Given the description of an element on the screen output the (x, y) to click on. 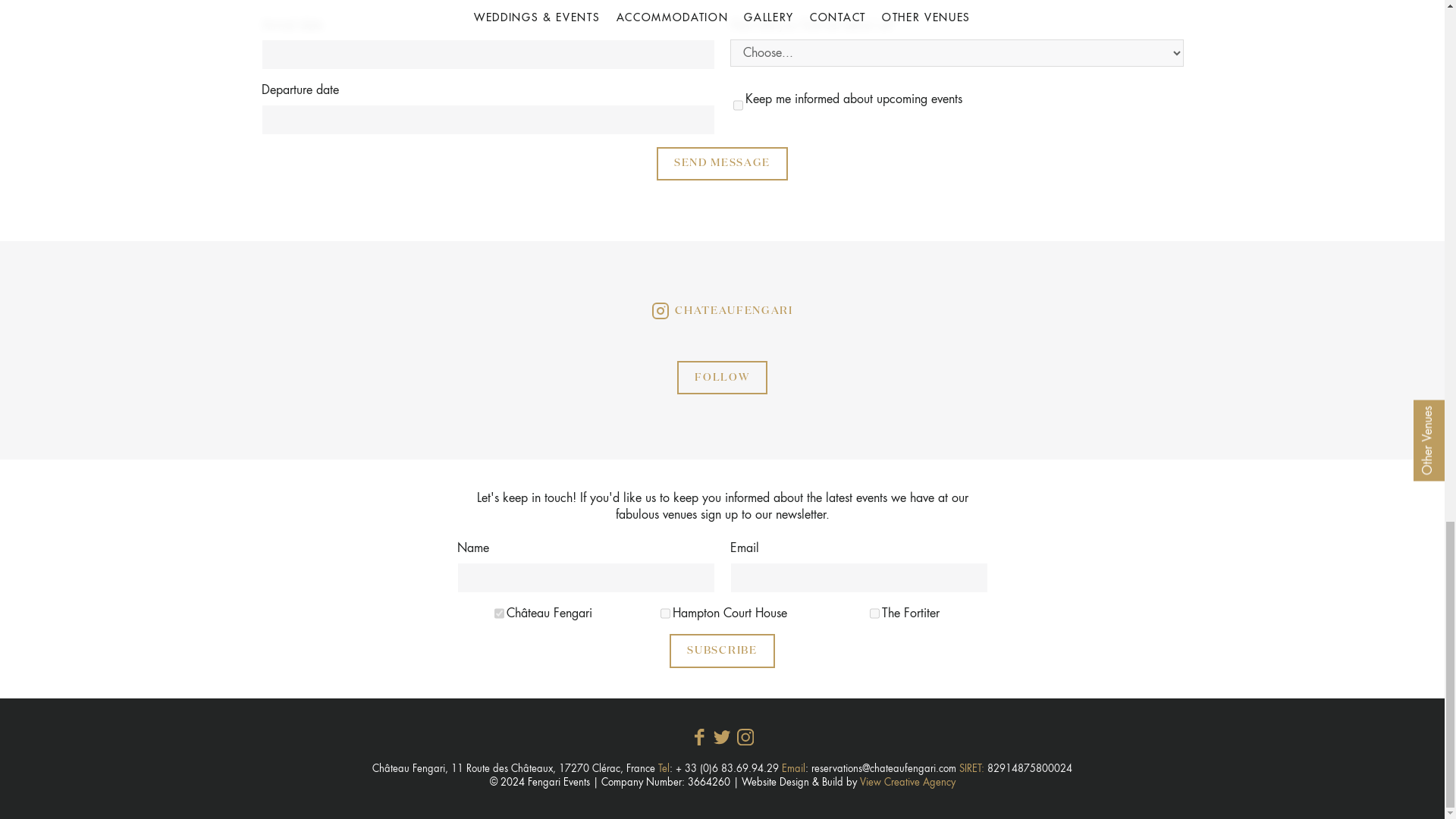
Subscribe (721, 650)
Send Message (721, 163)
Subscribe (721, 650)
FOLLOW (722, 377)
CHATEAUFENGARI (721, 311)
Send Message (721, 163)
View Creative Agency (907, 782)
